Given the description of an element on the screen output the (x, y) to click on. 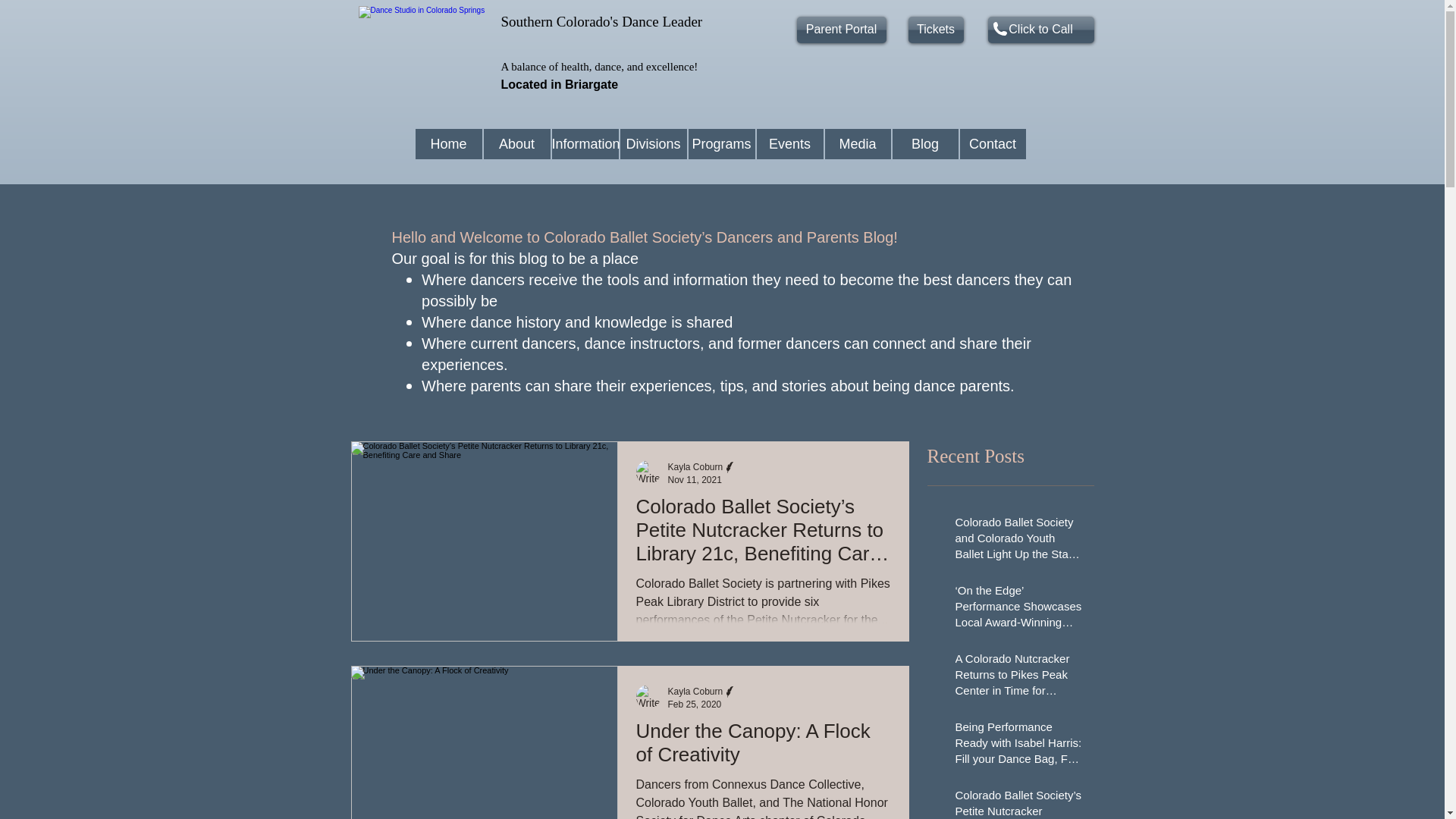
Kayla Coburn (694, 466)
Click to Call (1040, 29)
Nov 11, 2021 (693, 480)
Tickets (935, 29)
Feb 25, 2020 (693, 704)
Information (584, 143)
Kayla Coburn (694, 691)
About (516, 143)
Programs (721, 143)
Events (790, 143)
